Given the description of an element on the screen output the (x, y) to click on. 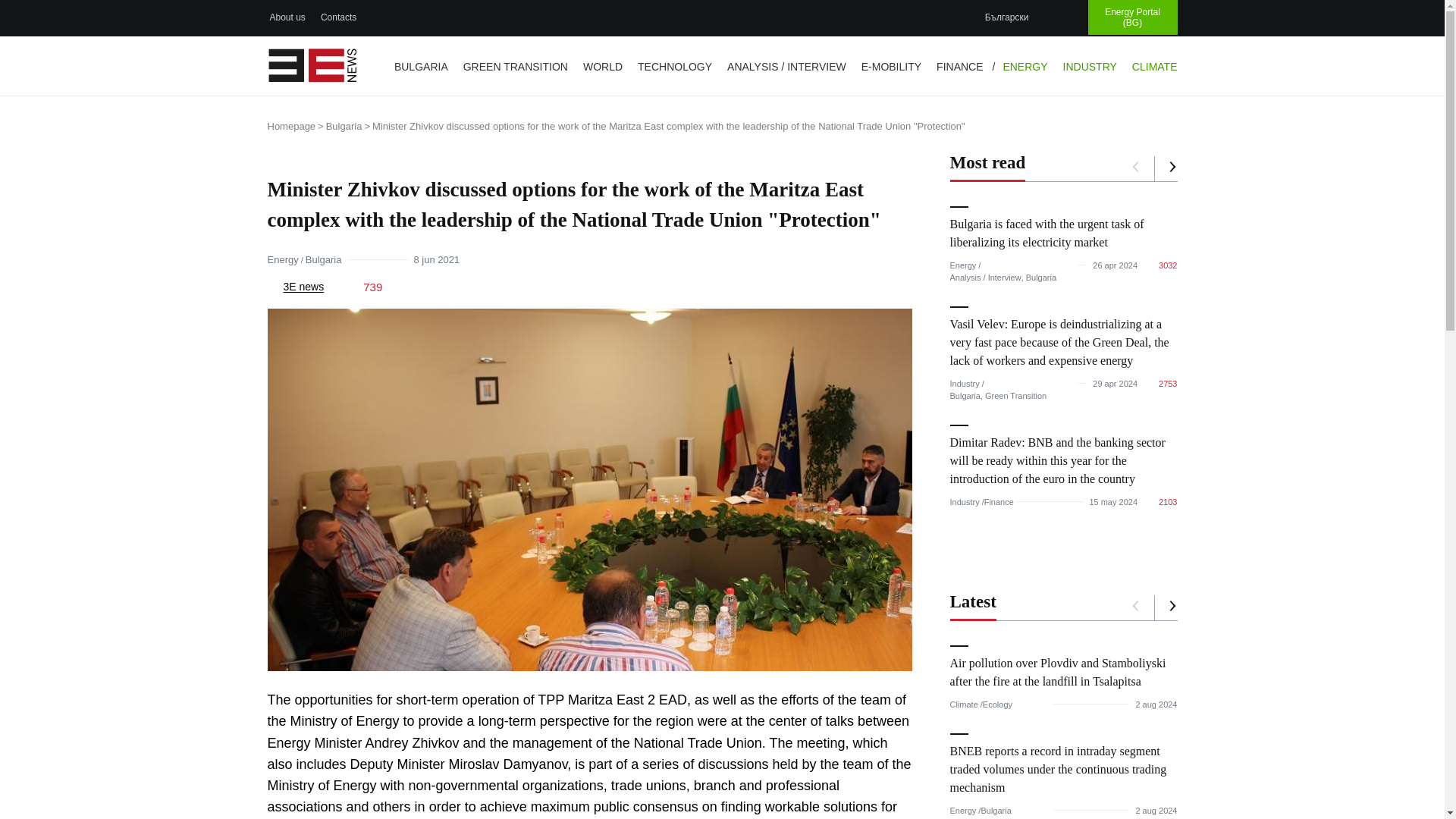
About us (287, 17)
Bulgaria (349, 126)
GREEN TRANSITION (515, 67)
Energy (282, 259)
Homepage (295, 126)
3E news (295, 286)
BULGARIA (421, 67)
E-MOBILITY (890, 67)
CLIMATE (1154, 67)
TECHNOLOGY (674, 67)
WORLD (602, 67)
About us (287, 17)
Contacts (338, 17)
ENERGY (1024, 67)
Homepage (295, 126)
